Given the description of an element on the screen output the (x, y) to click on. 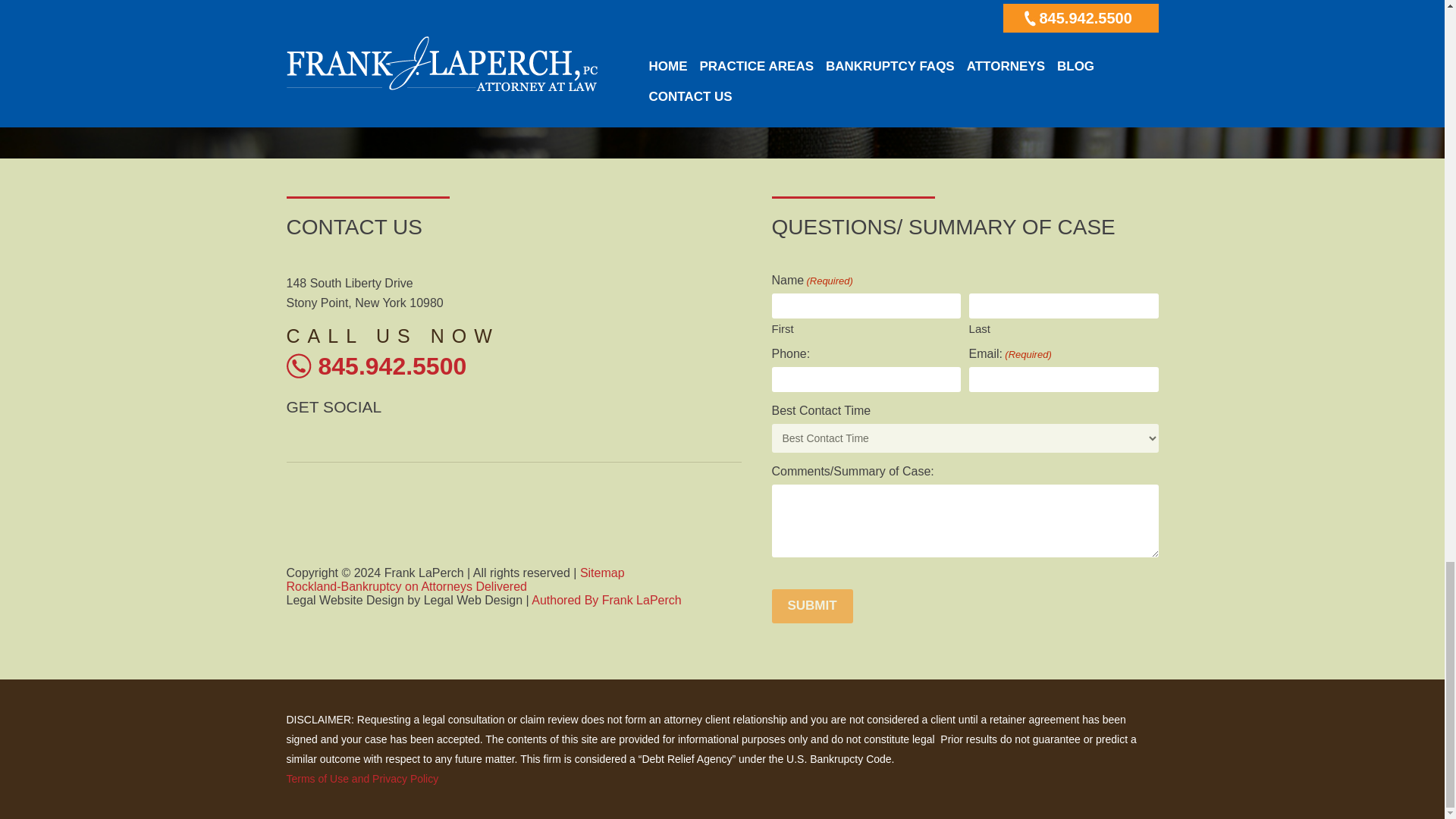
Terms of Use and Privacy Policy (362, 778)
Submit (1039, 605)
Submit (812, 605)
MEET OUR ATTORNEYS (721, 123)
Rockland-Bankruptcy on Attorneys Delivered (406, 585)
Sitemap (601, 572)
Authored By Frank LaPerch (606, 599)
